Given the description of an element on the screen output the (x, y) to click on. 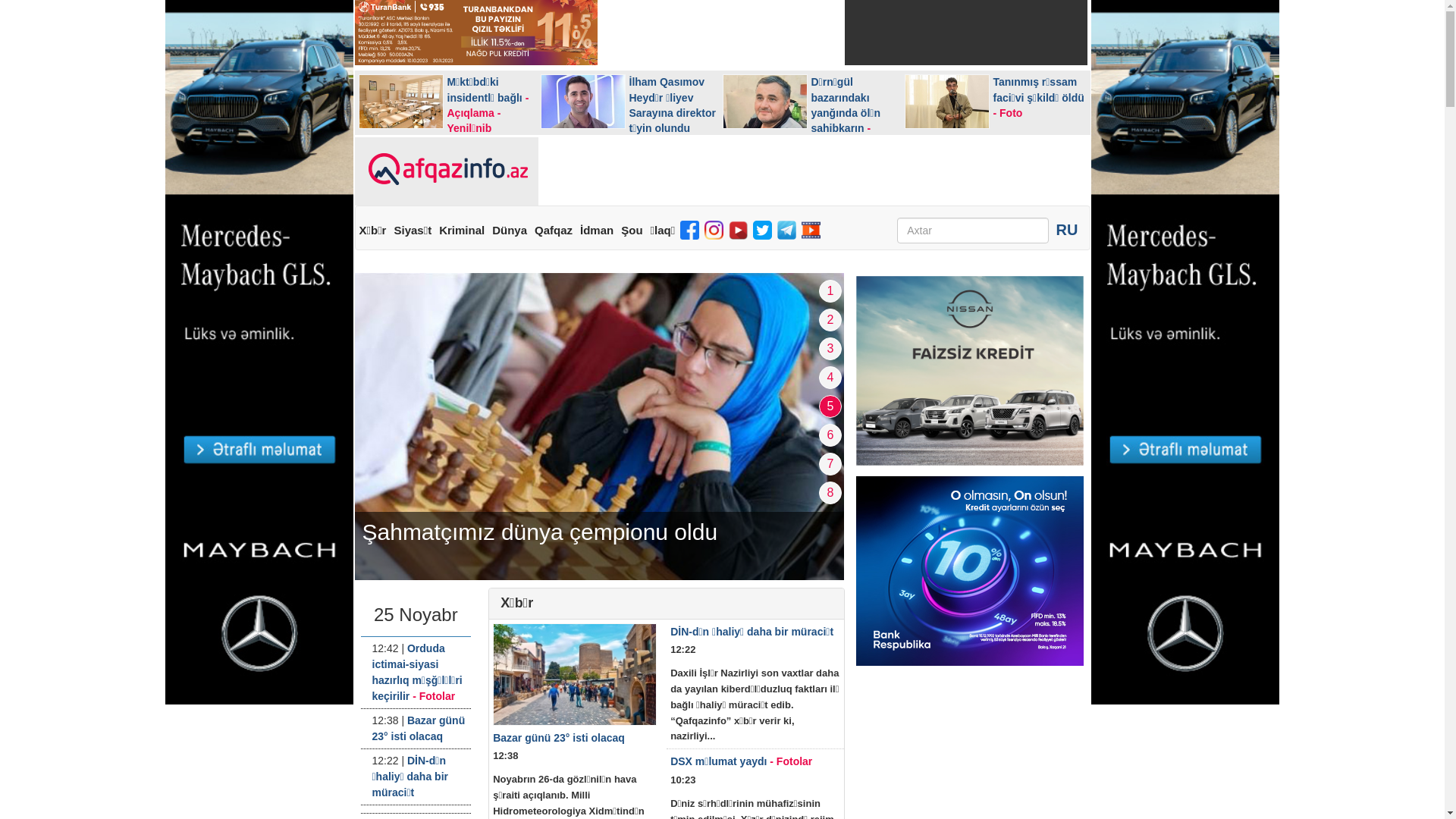
bazar-gunu-23-isti-olacaq Element type: hover (574, 674)
Qafqaz Element type: text (553, 230)
RU Element type: text (1067, 229)
Kriminal Element type: text (461, 230)
milli-ile-bagli-mene-sual-vermeyin Element type: hover (599, 426)
